Given the description of an element on the screen output the (x, y) to click on. 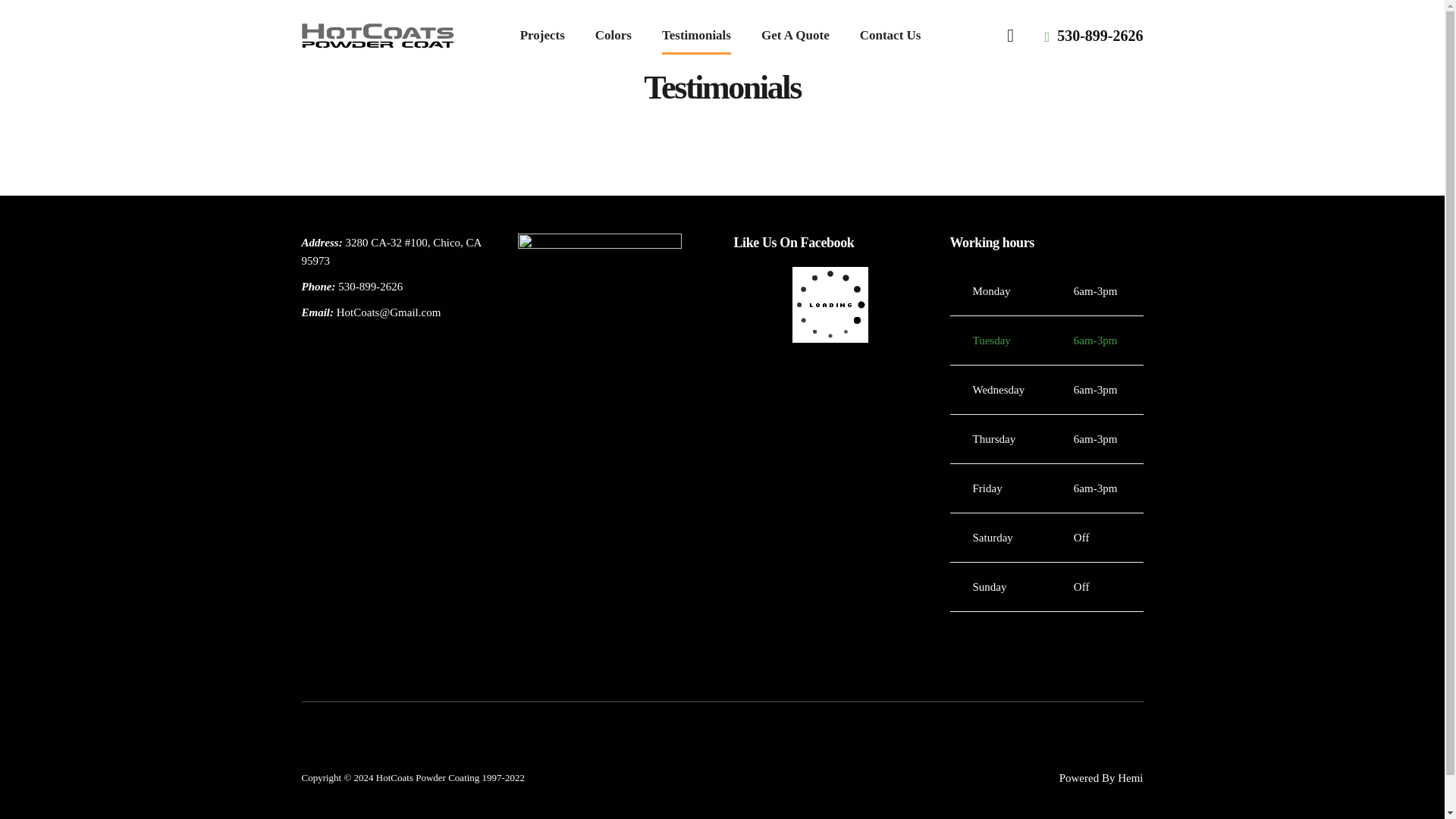
Projects (542, 35)
Contact Us (890, 35)
Colors (612, 35)
Testimonials (695, 35)
Get A Quote (794, 35)
